Given the description of an element on the screen output the (x, y) to click on. 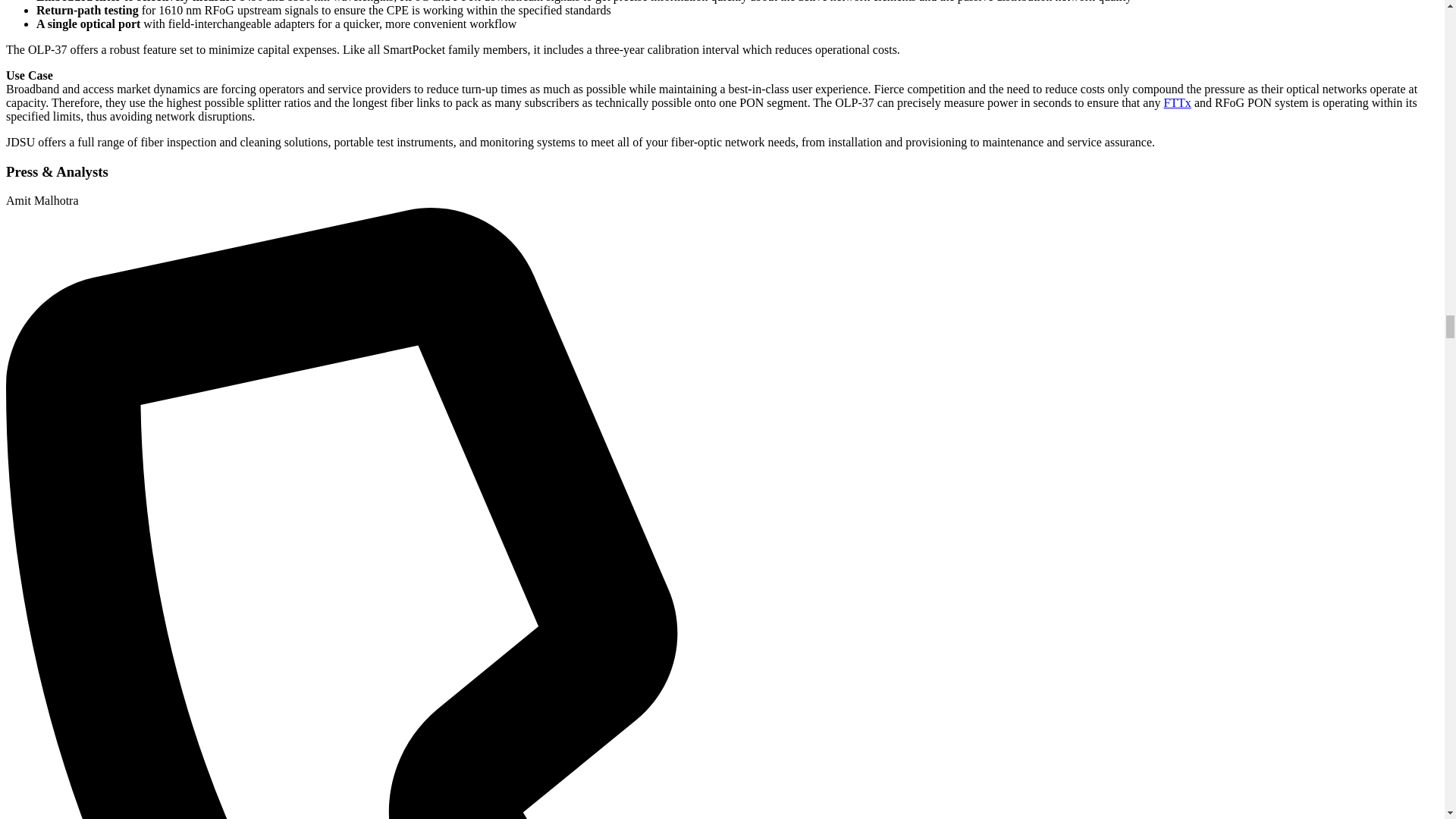
FTTx (1177, 102)
